Given the description of an element on the screen output the (x, y) to click on. 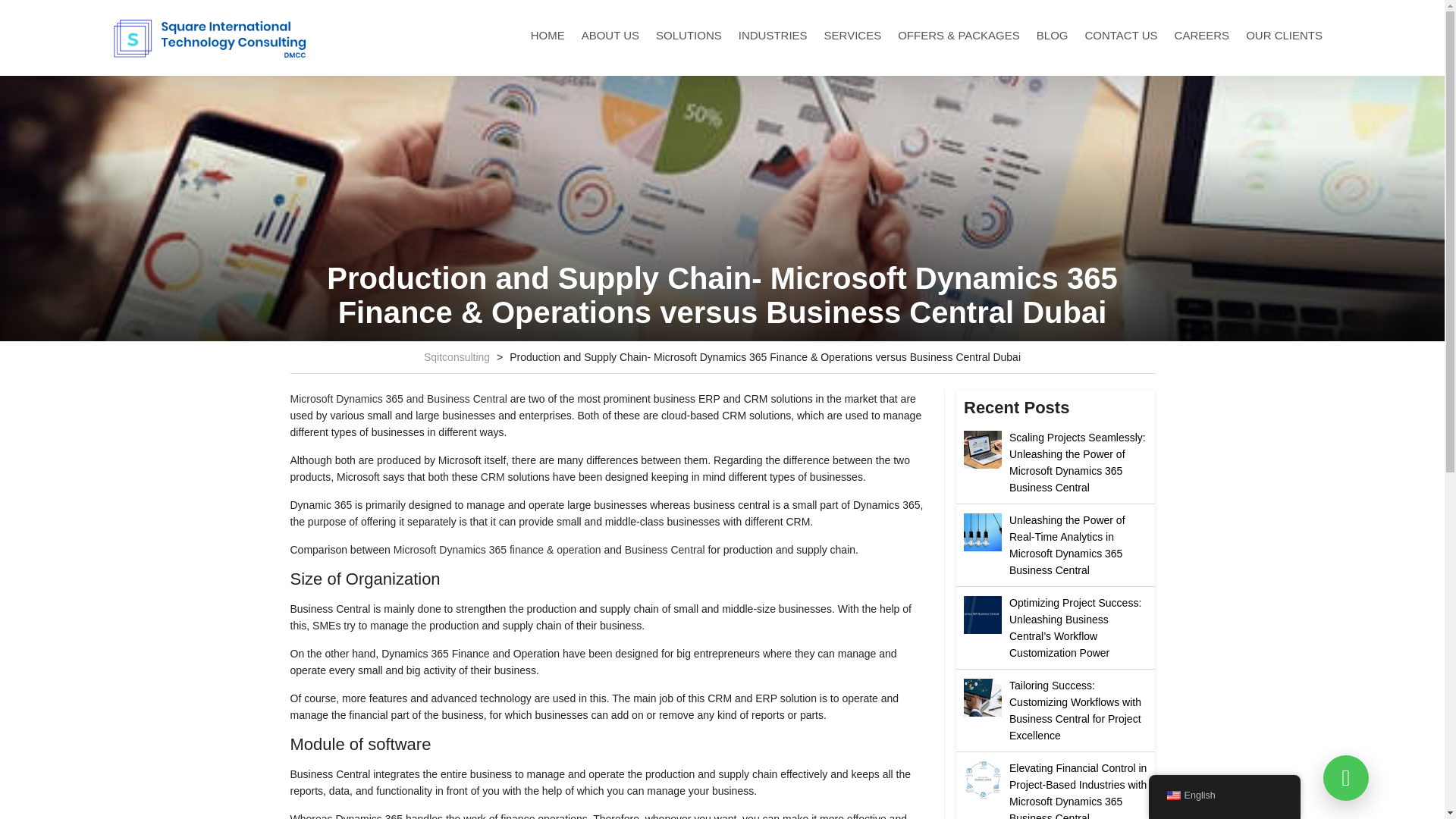
INDUSTRIES (772, 35)
English (1172, 795)
ABOUT US (609, 35)
SOLUTIONS (688, 35)
Go to Sqitconsulting. (456, 357)
SERVICES (852, 35)
HOME (547, 35)
